Given the description of an element on the screen output the (x, y) to click on. 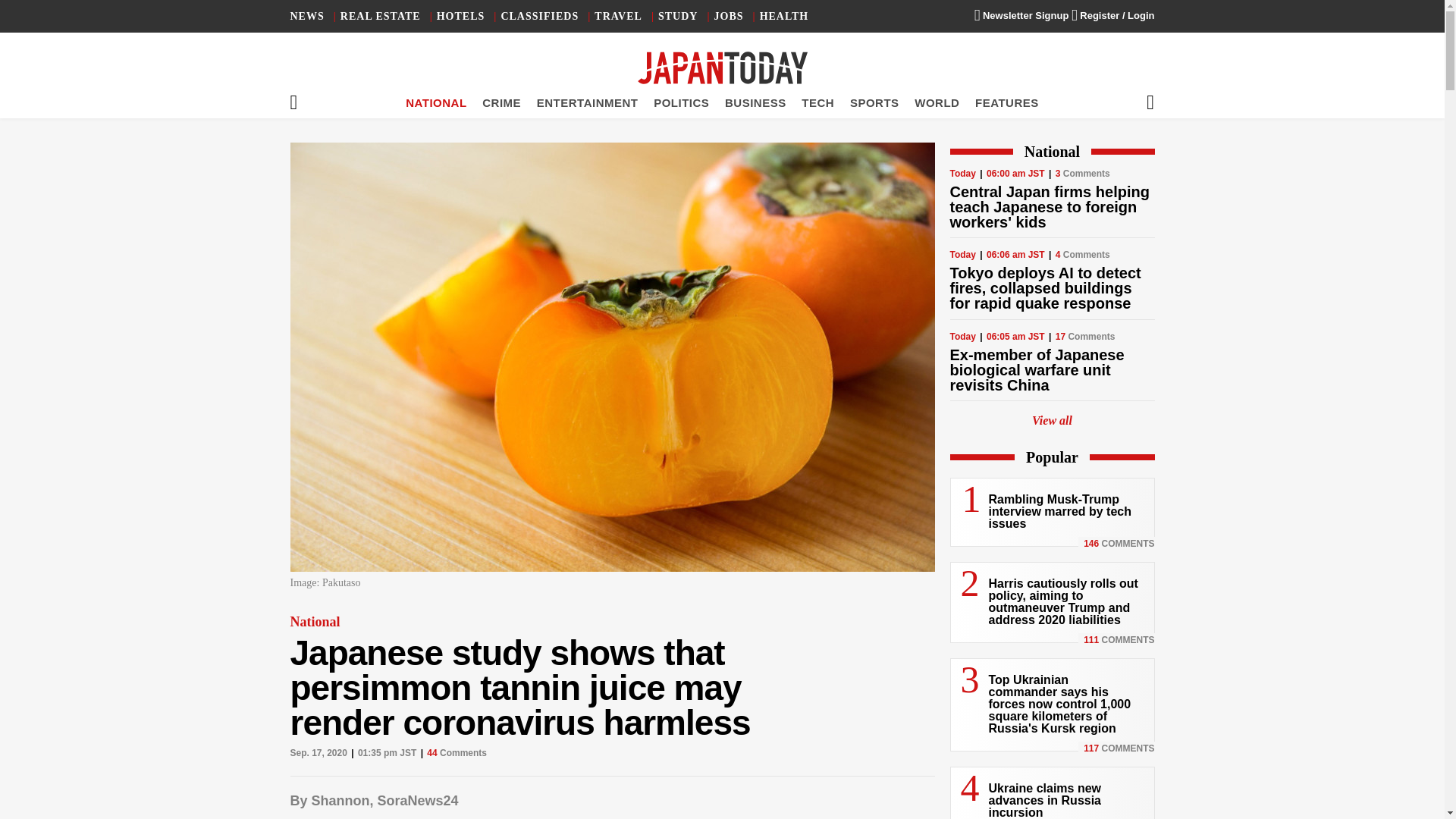
BUSINESS (755, 102)
TECH (818, 102)
JOBS (729, 16)
Japan Today (721, 67)
NATIONAL (435, 102)
CLASSIFIEDS (539, 16)
WORLD (936, 102)
Japan Today (721, 67)
FEATURES (1007, 102)
